Given the description of an element on the screen output the (x, y) to click on. 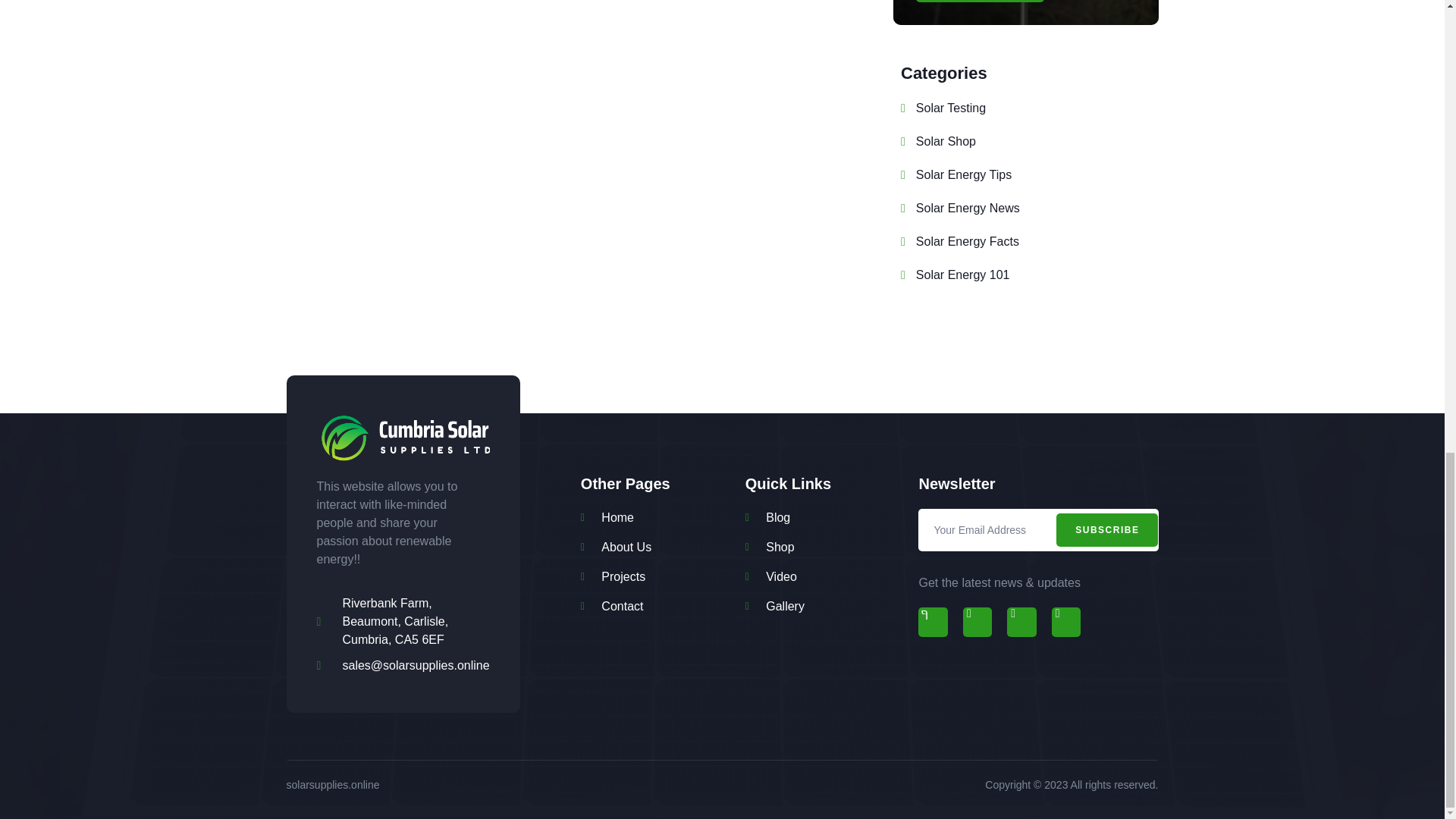
Solar Shop (938, 141)
Solar Energy Facts (960, 241)
CONTACT US (979, 1)
Solar Energy 101 (955, 275)
Solar Testing (943, 108)
Solar Energy Tips (956, 175)
Solar Energy News (960, 208)
